Given the description of an element on the screen output the (x, y) to click on. 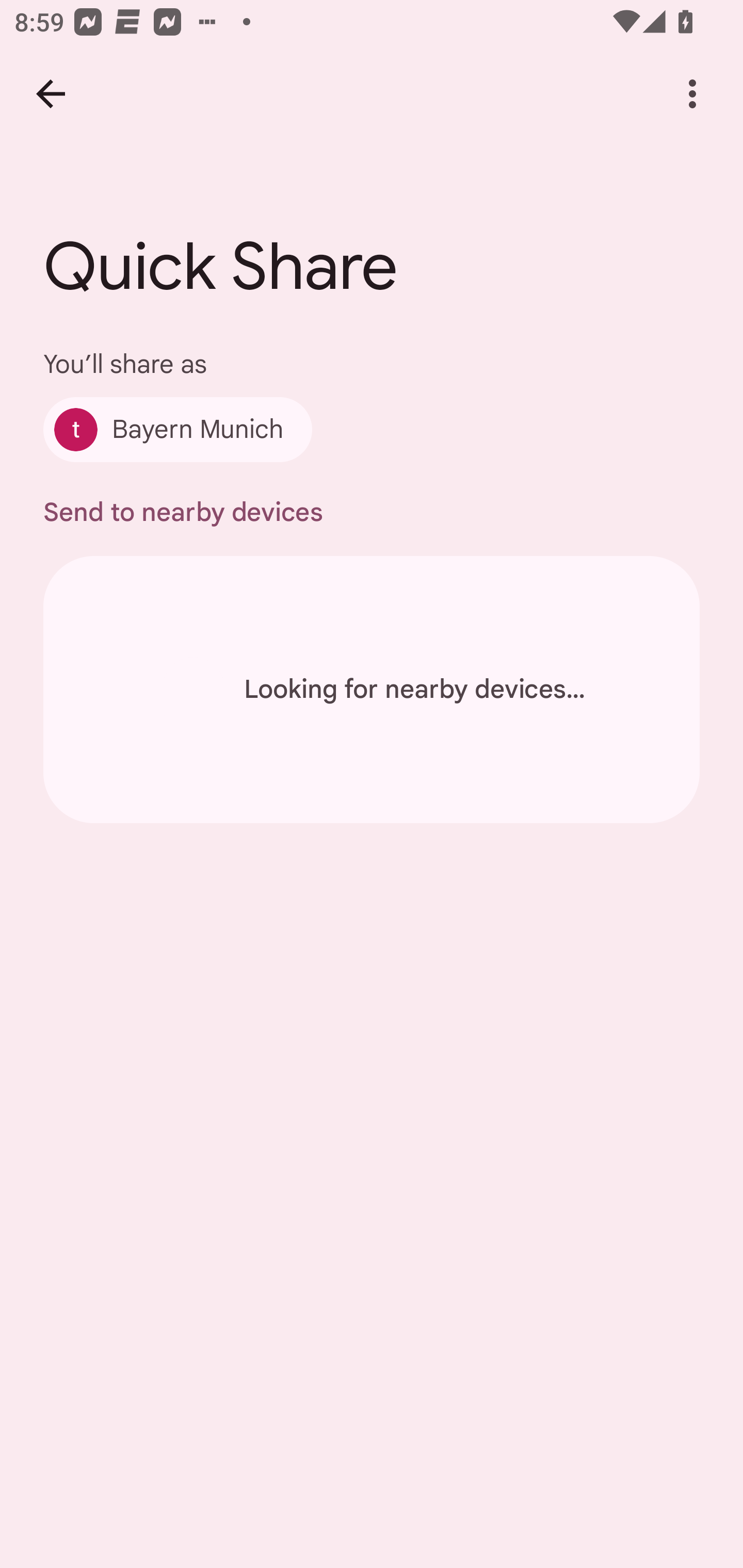
Back (50, 93)
More (692, 93)
Bayern Munich (177, 429)
